Given the description of an element on the screen output the (x, y) to click on. 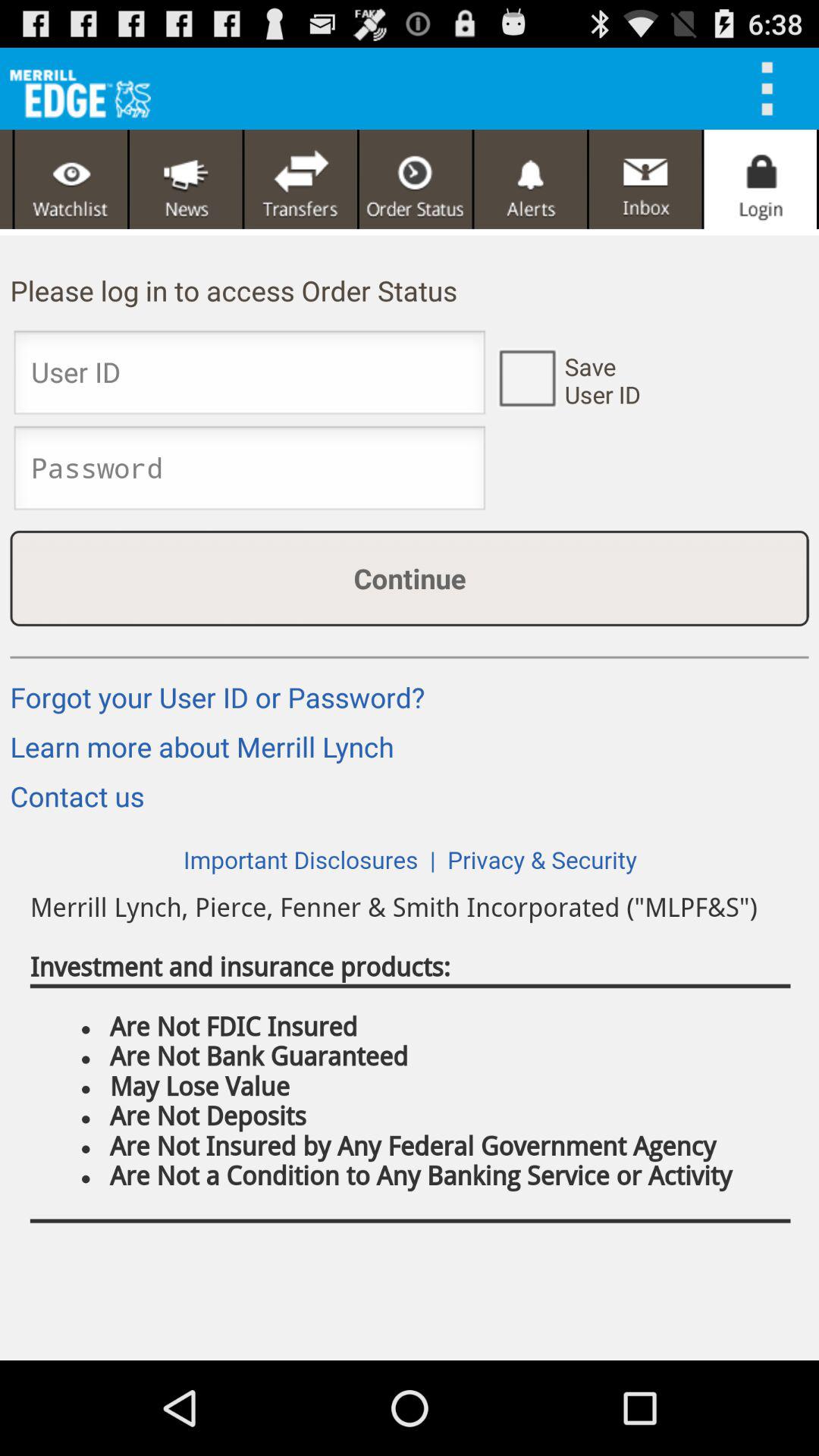
enter text (249, 472)
